Given the description of an element on the screen output the (x, y) to click on. 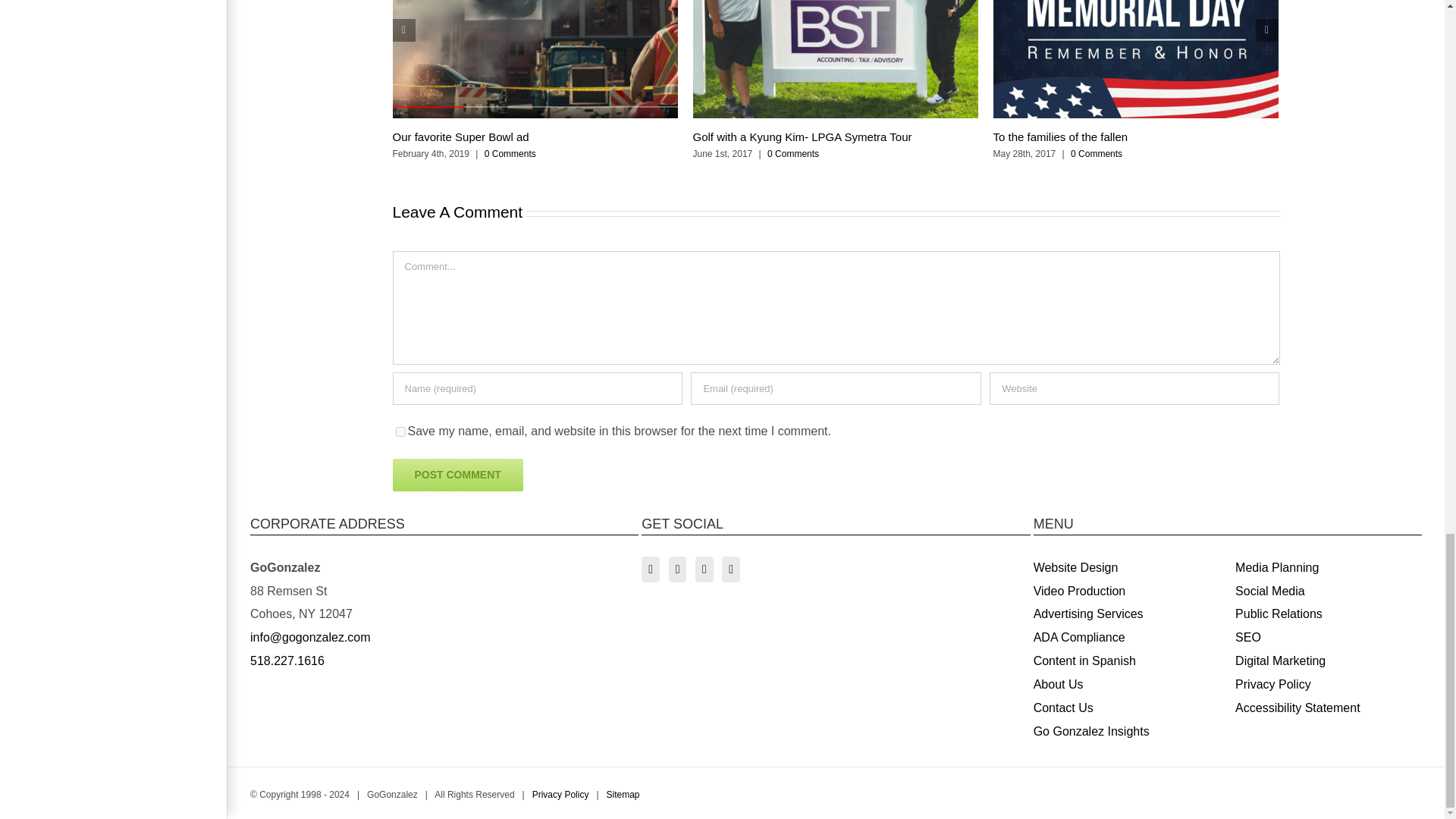
Post Comment (457, 474)
yes (401, 431)
